Given the description of an element on the screen output the (x, y) to click on. 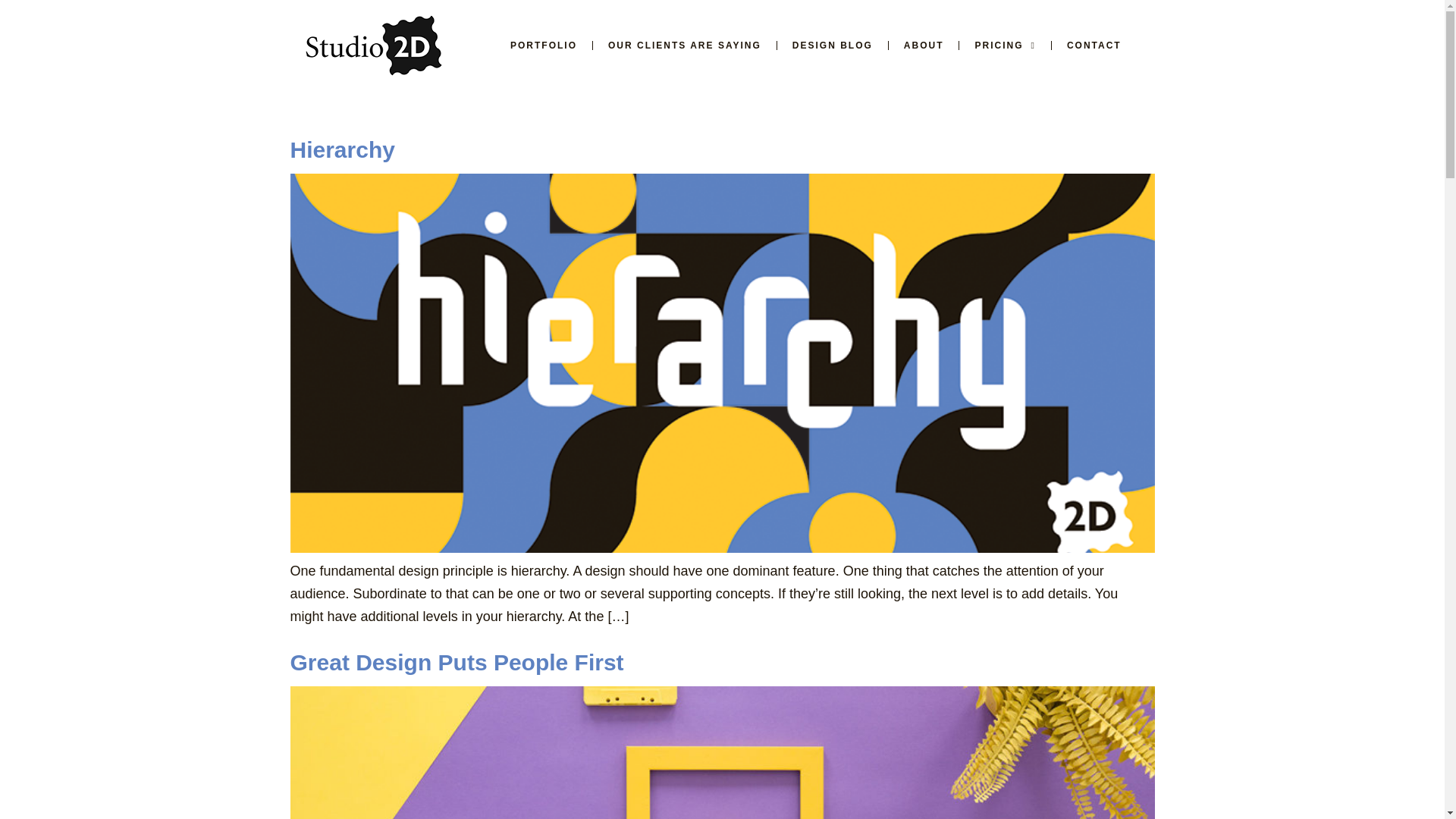
Hierarchy (341, 149)
DESIGN BLOG (832, 45)
ABOUT (923, 45)
Great Design Puts People First (456, 662)
OUR CLIENTS ARE SAYING (684, 45)
PORTFOLIO (543, 45)
PRICING (1004, 45)
CONTACT (1094, 45)
